Given the description of an element on the screen output the (x, y) to click on. 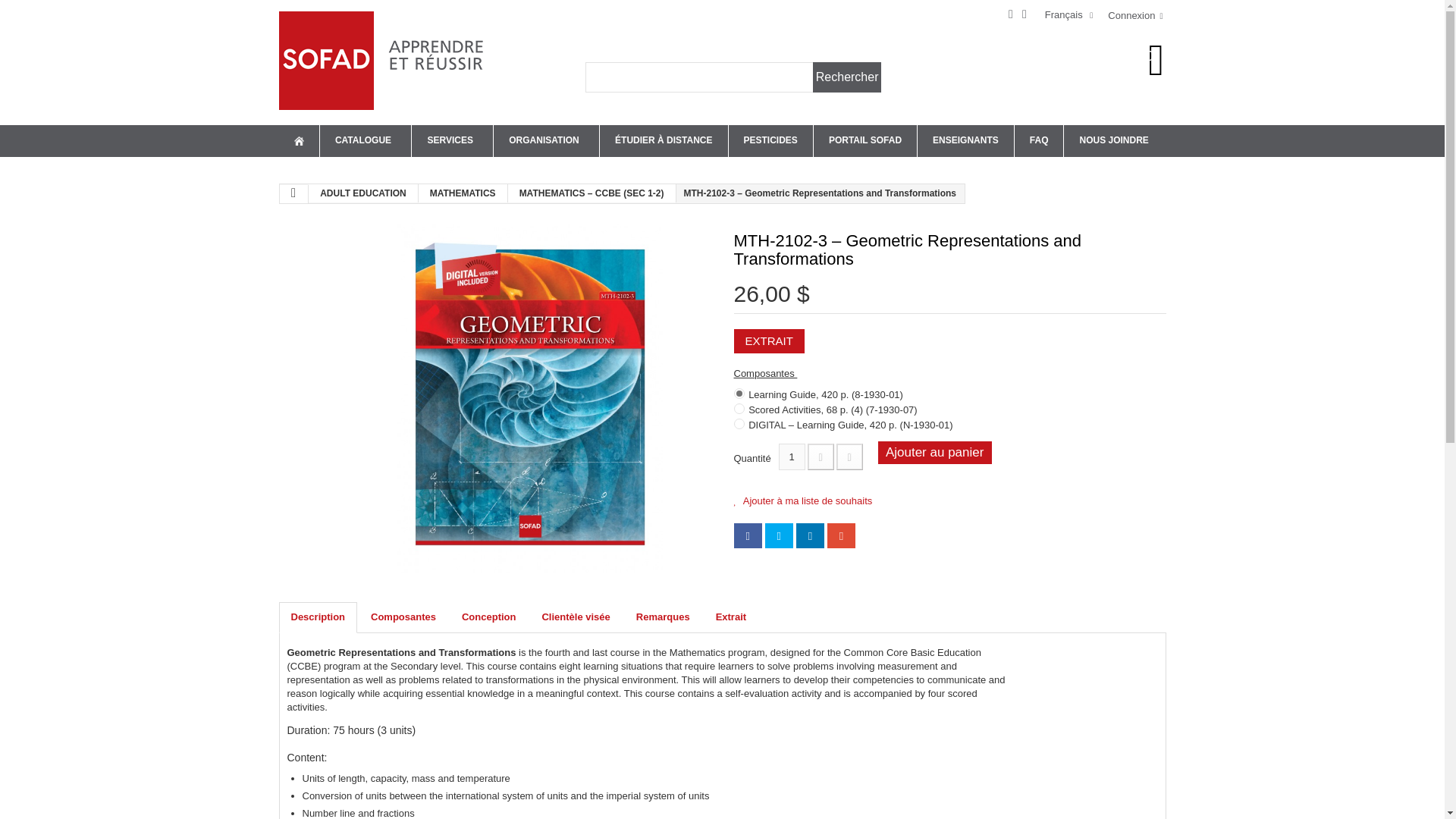
1 (791, 456)
CATALOGUE (365, 141)
SERVICES (451, 141)
ADULT EDUCATION (363, 193)
MATHEMATICS (463, 193)
Sofad (384, 60)
linkedin (1025, 14)
facebook (1012, 14)
Rechercher (847, 77)
Connexion (1134, 15)
